Given the description of an element on the screen output the (x, y) to click on. 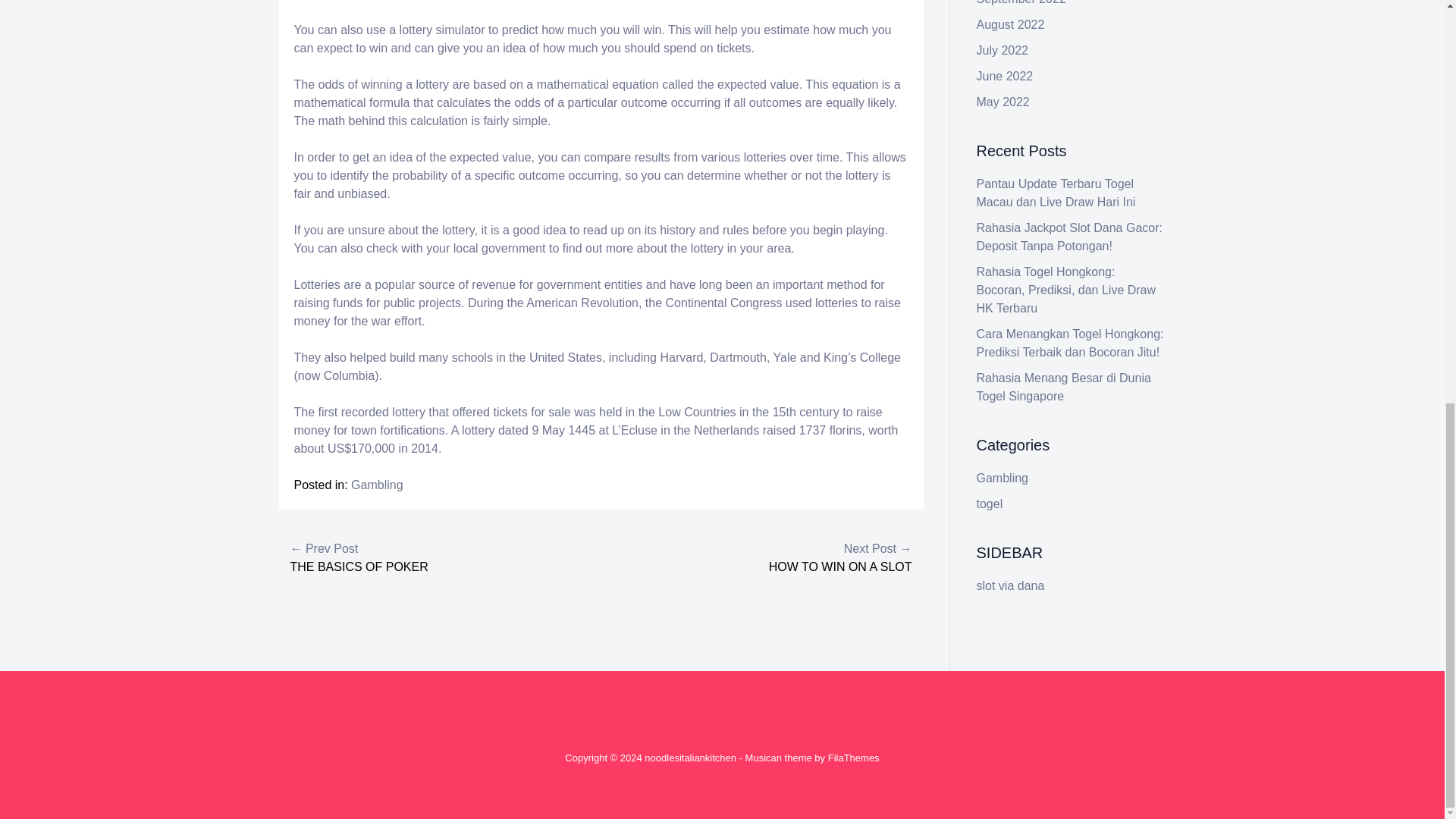
noodlesitaliankitchen (690, 757)
Gambling (376, 484)
June 2022 (1004, 75)
September 2022 (1020, 2)
Pantau Update Terbaru Togel Macau dan Live Draw Hari Ini (1055, 192)
August 2022 (1010, 24)
Rahasia Jackpot Slot Dana Gacor: Deposit Tanpa Potongan! (1068, 236)
May 2022 (1002, 101)
July 2022 (1002, 50)
